Given the description of an element on the screen output the (x, y) to click on. 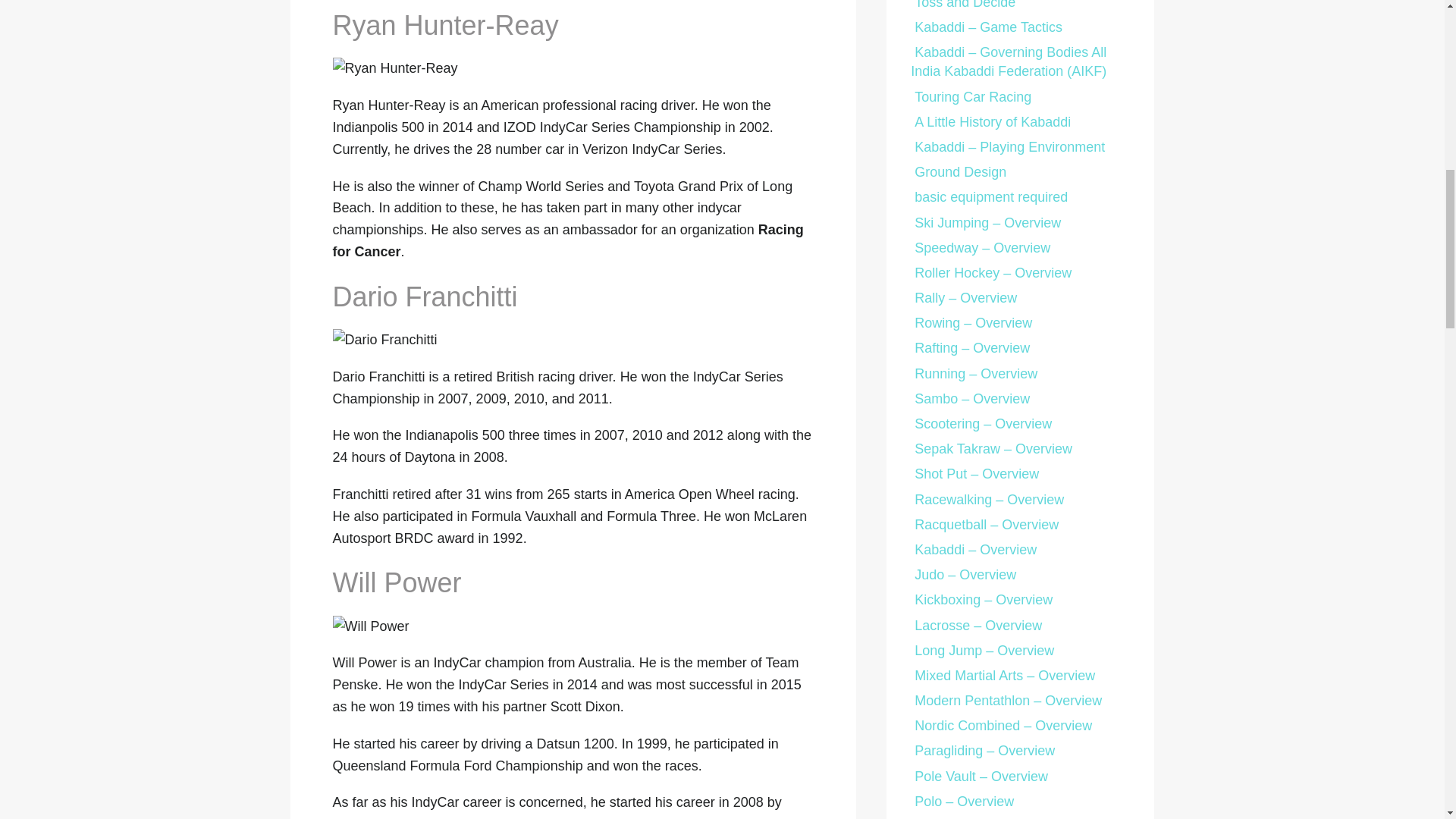
Ground Design (958, 171)
basic equipment required (989, 196)
Toss and Decide (962, 4)
A Little History of Kabaddi (990, 121)
Touring Car Racing (970, 96)
